Given the description of an element on the screen output the (x, y) to click on. 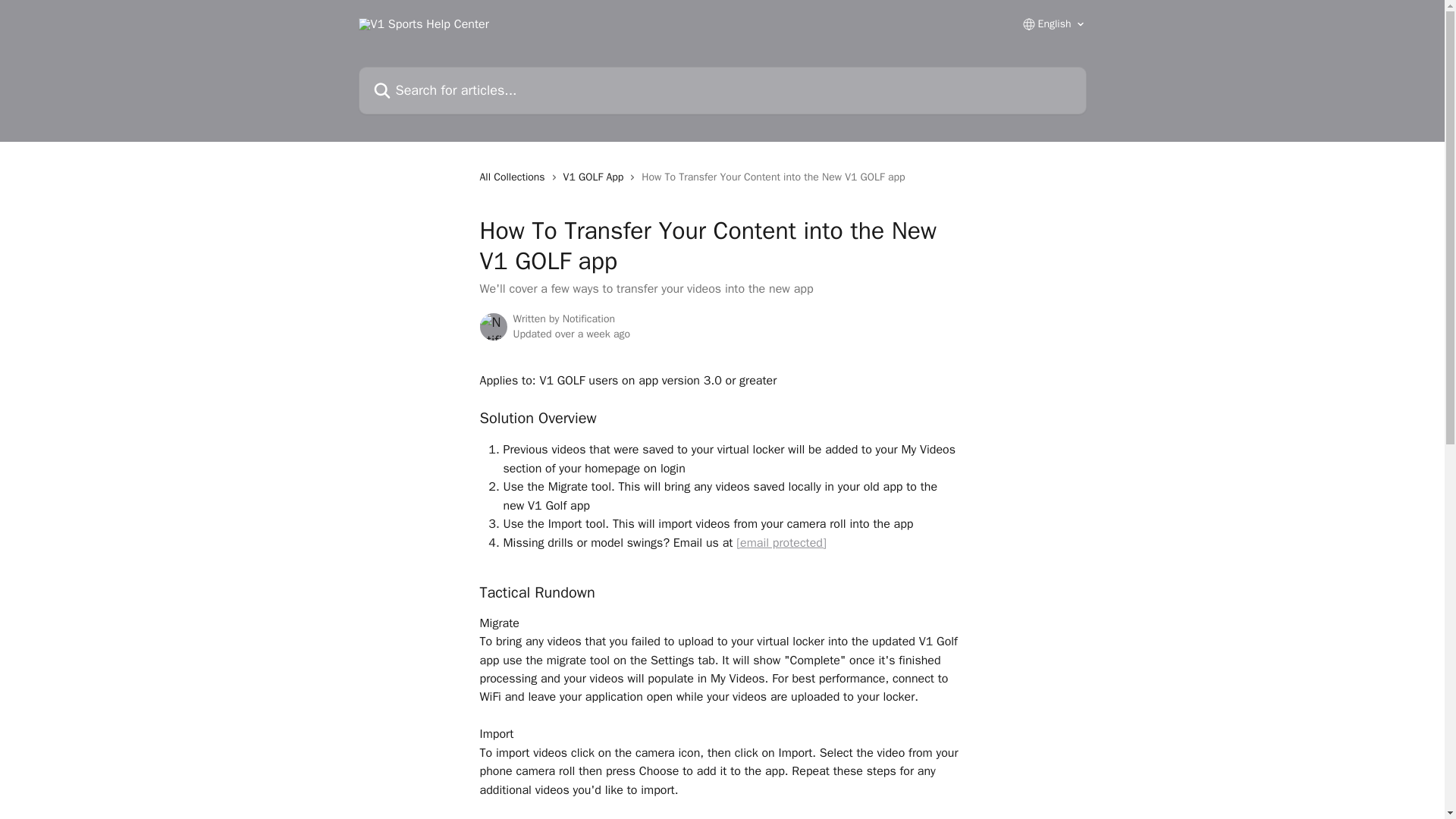
V1 GOLF App (596, 176)
All Collections (514, 176)
